Given the description of an element on the screen output the (x, y) to click on. 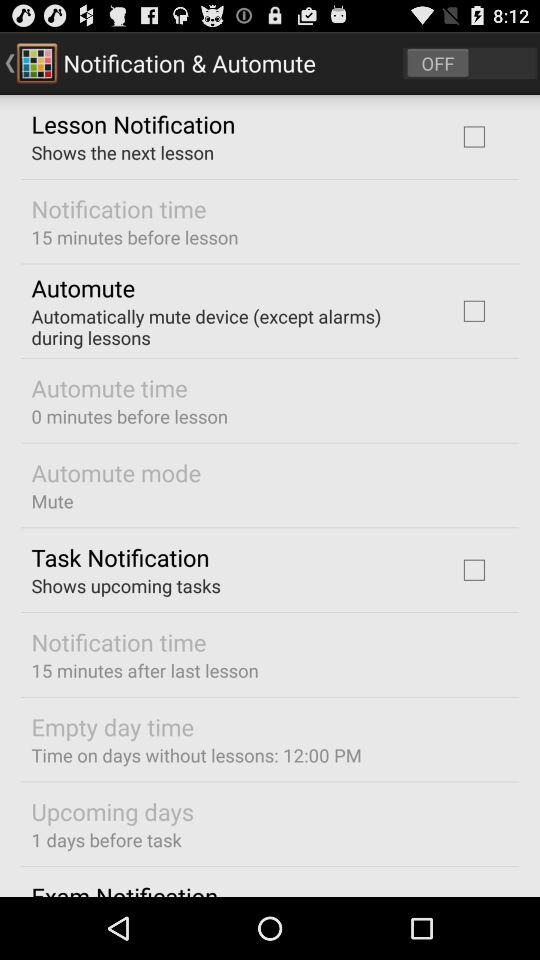
shows notifications icon (470, 62)
